Given the description of an element on the screen output the (x, y) to click on. 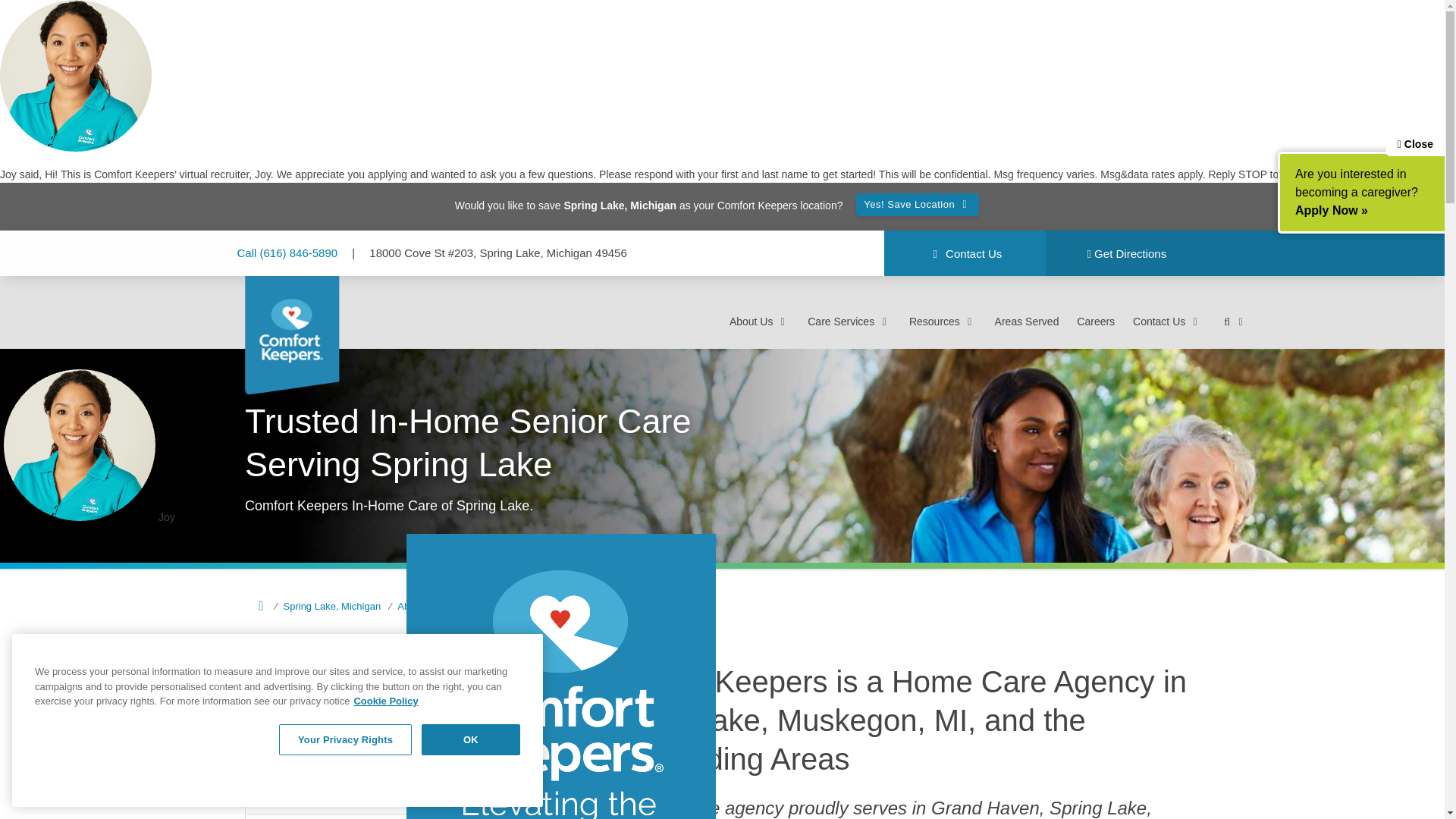
Our Story (398, 723)
Contact Us (964, 254)
Contact Us (964, 254)
Resources (942, 321)
Get Directions (1126, 254)
Areas Served (1026, 321)
About Us (759, 321)
Call Us (287, 252)
About Us (453, 605)
Spring Lake, Michigan (324, 605)
Care Services (849, 321)
About (403, 605)
